Given the description of an element on the screen output the (x, y) to click on. 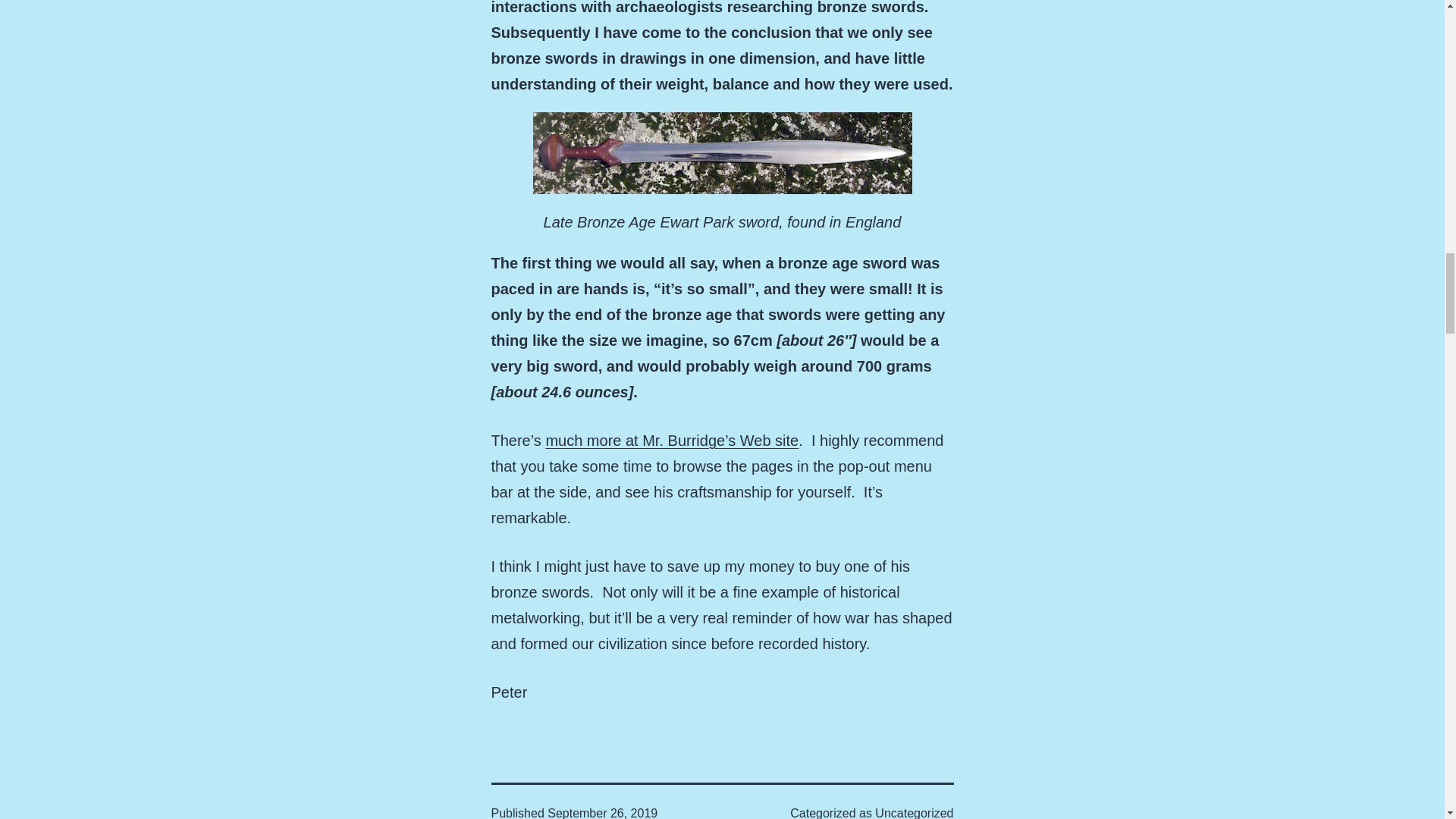
Uncategorized (914, 812)
